Given the description of an element on the screen output the (x, y) to click on. 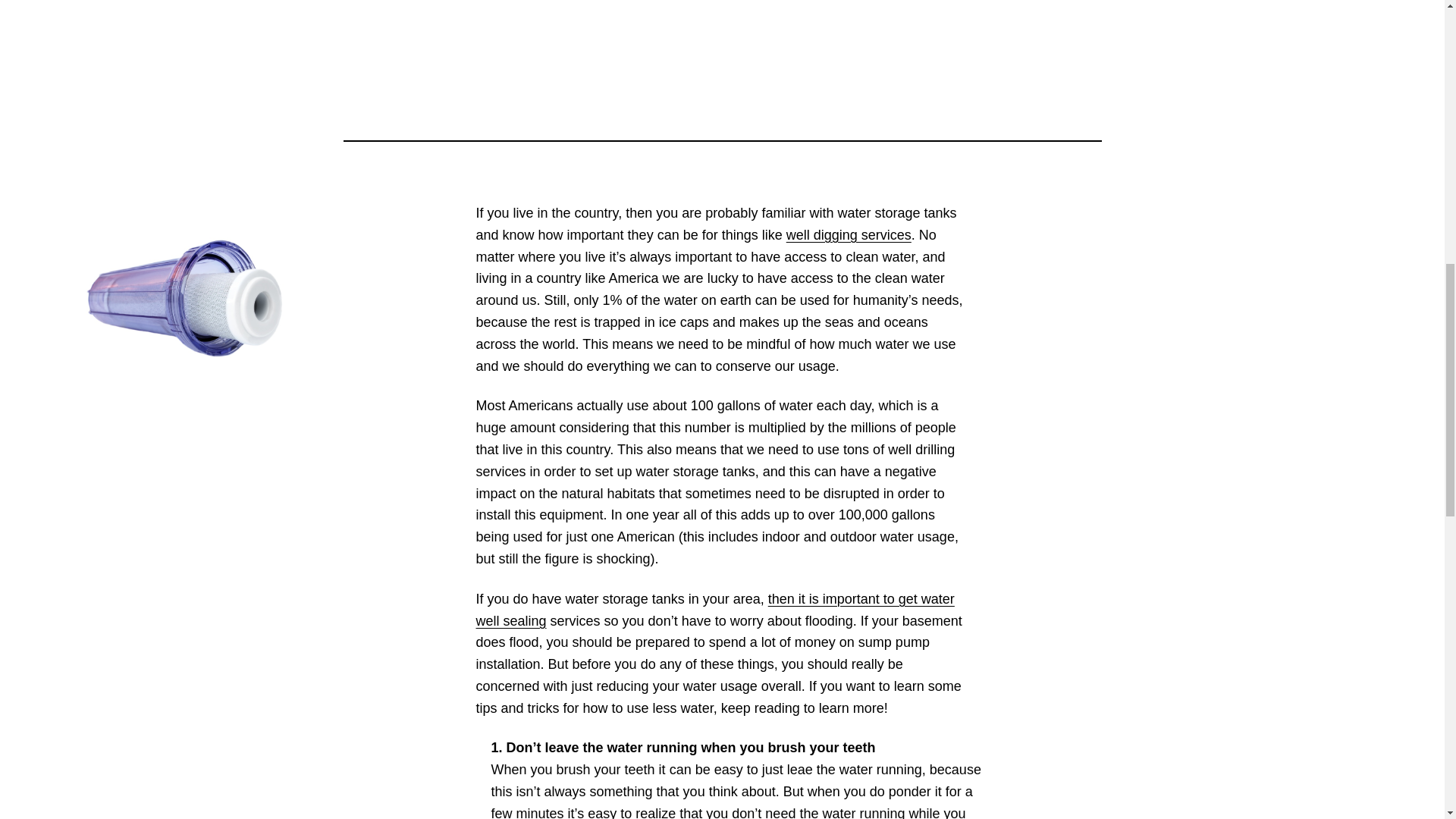
Waterproofing will county (715, 609)
Water tanks will county, Sump pump installation will county (848, 234)
well digging services (848, 234)
then it is important to get water well sealing (715, 609)
